Given the description of an element on the screen output the (x, y) to click on. 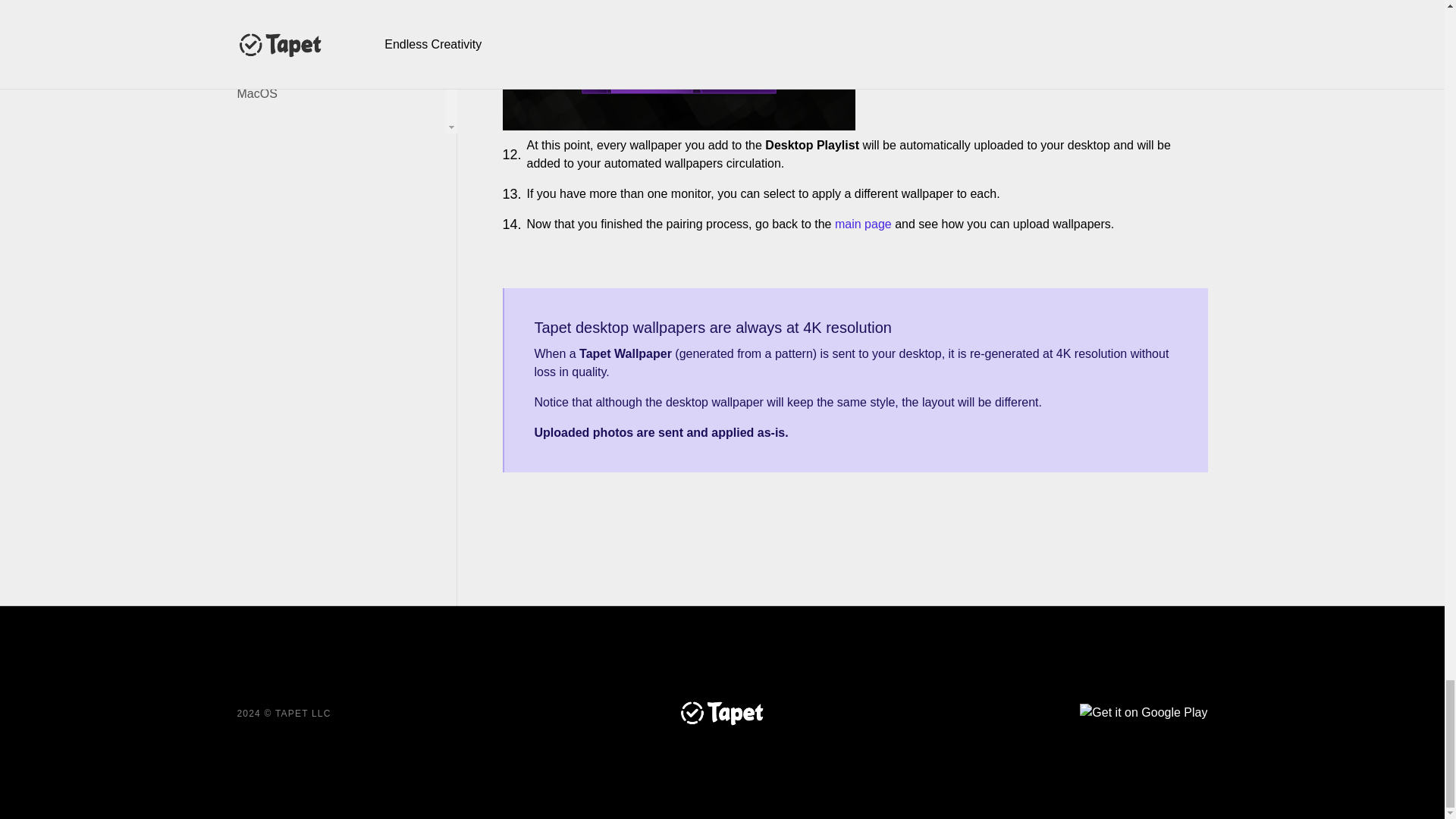
main page (862, 223)
